Given the description of an element on the screen output the (x, y) to click on. 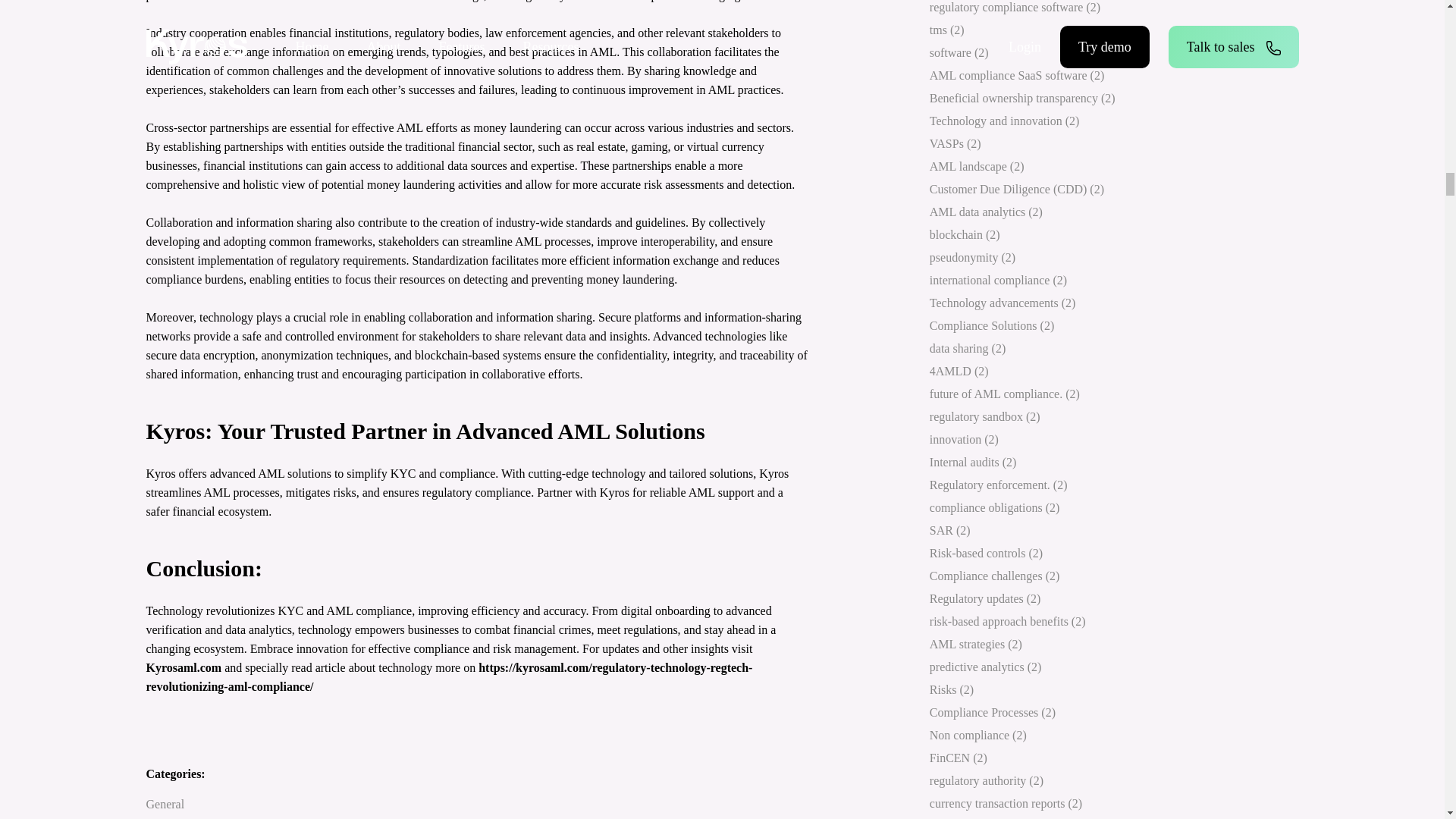
General (164, 804)
